Given the description of an element on the screen output the (x, y) to click on. 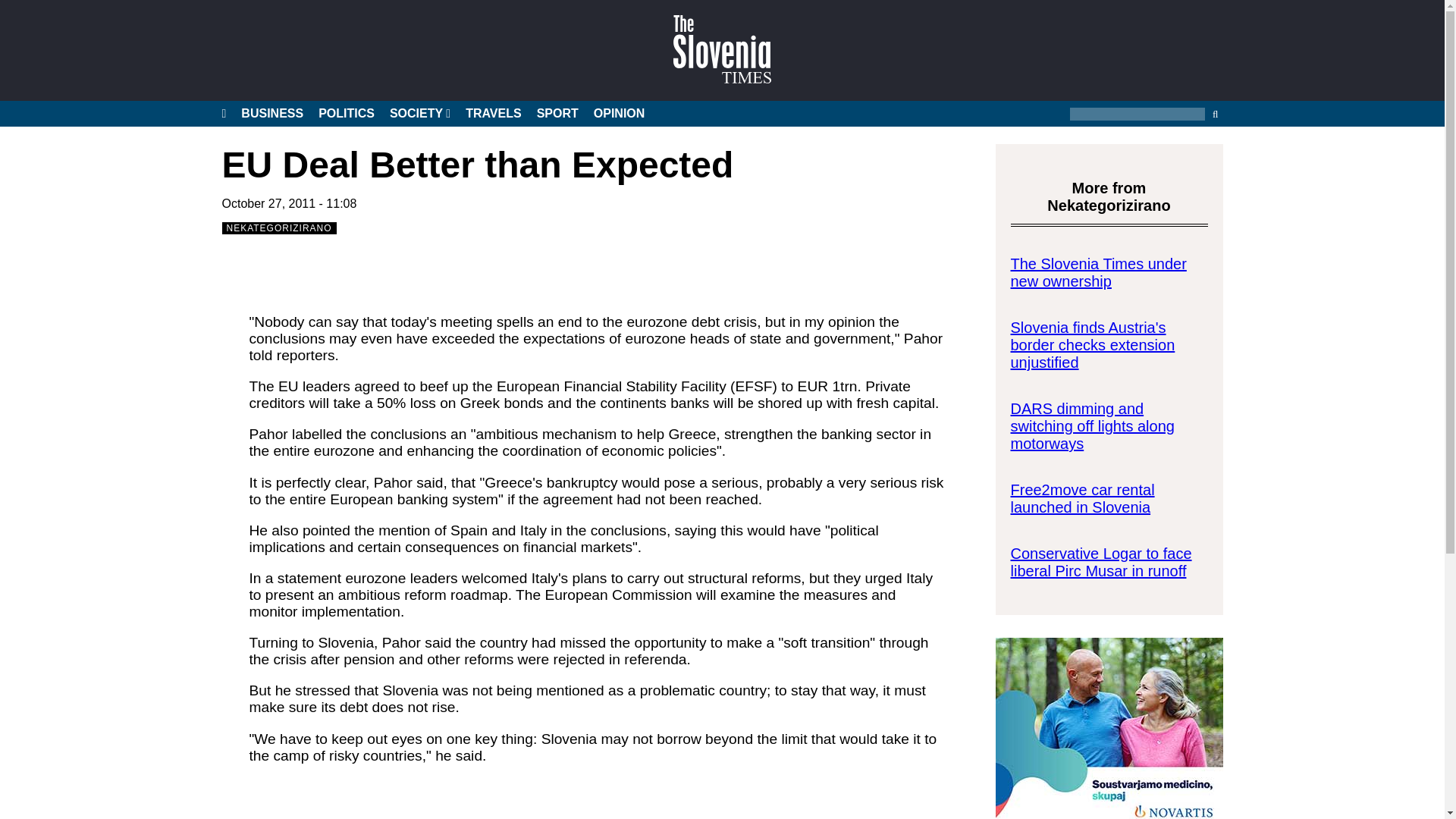
Conservative Logar to face liberal Pirc Musar in runoff (1100, 562)
DARS dimming and switching off lights along motorways (1091, 426)
The Slovenia Times under new ownership (1098, 272)
OPINION (619, 113)
Free2move car rental launched in Slovenia (1082, 498)
TRAVELS (493, 113)
SPORT (557, 113)
BUSINESS (271, 113)
POLITICS (346, 113)
Slovenia finds Austria's border checks extension unjustified (1092, 345)
